Given the description of an element on the screen output the (x, y) to click on. 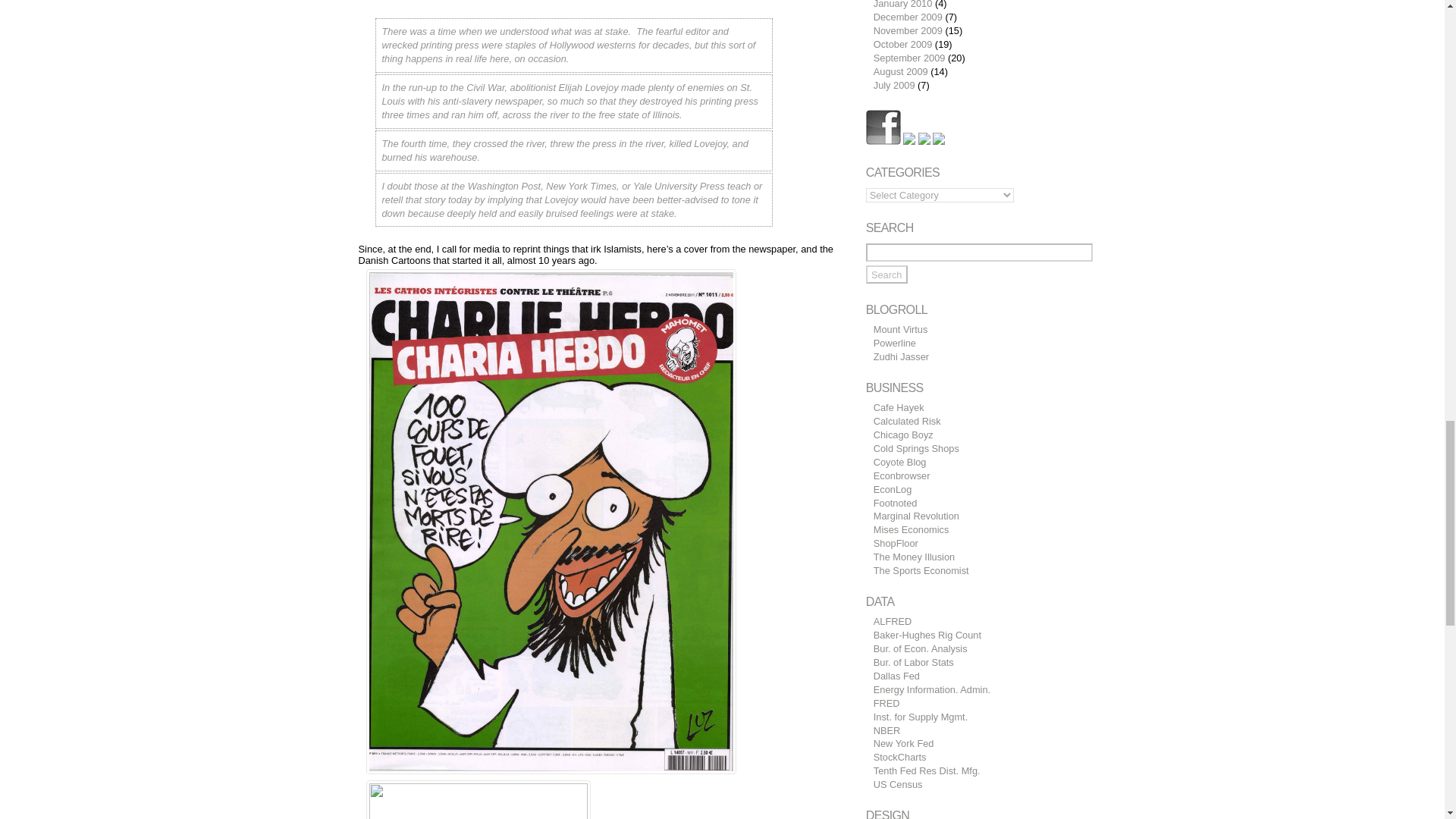
Search (886, 274)
Search (886, 274)
American Islamic Forum for Democracy (900, 356)
